Given the description of an element on the screen output the (x, y) to click on. 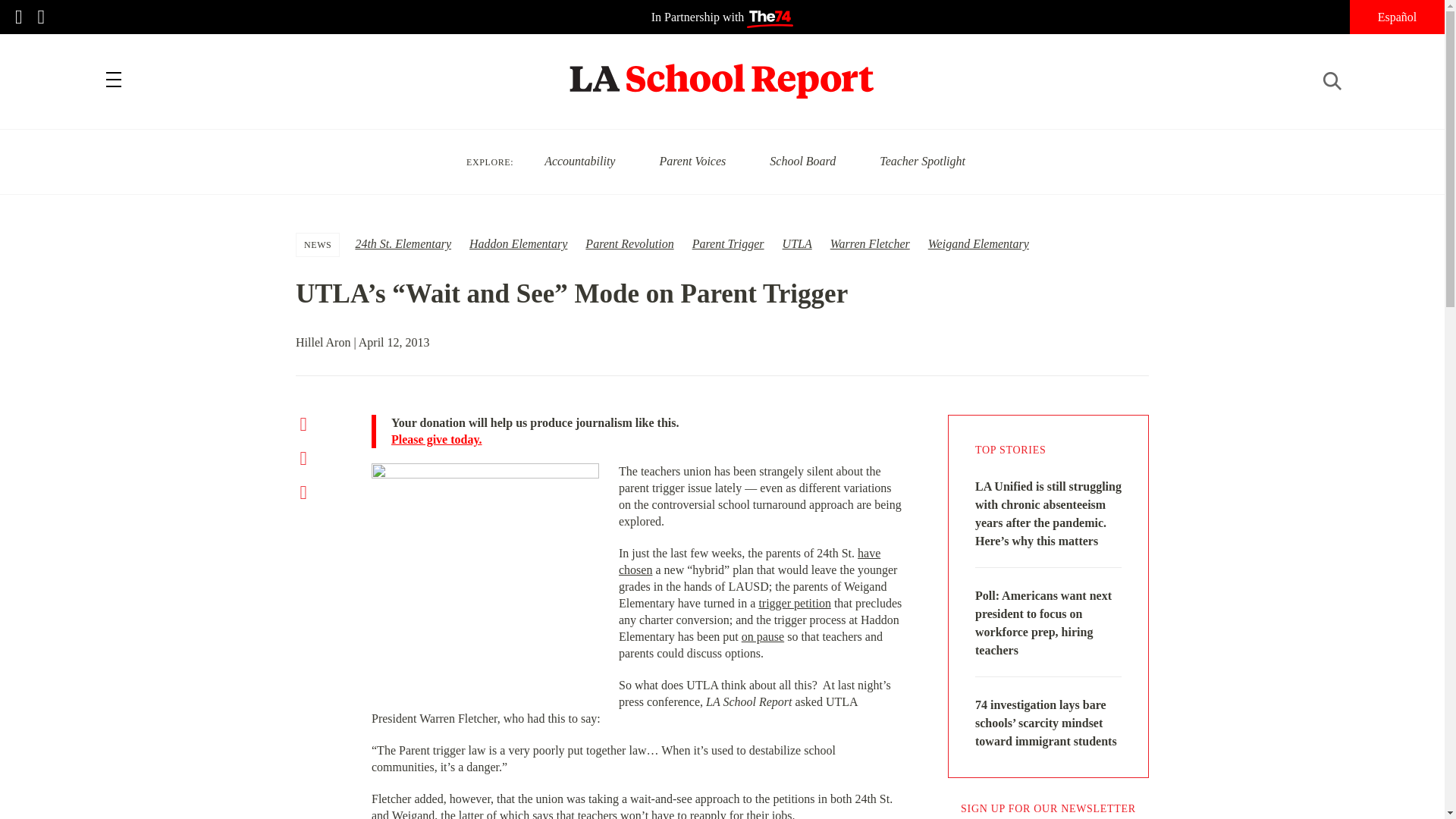
Teacher Spotlight (922, 160)
School Board (802, 160)
In Partnership with 74 (721, 16)
Parent Trigger (728, 243)
Parent Revolution (628, 243)
Haddon Elementary (517, 243)
Weigand Elementary (978, 243)
NEWS (317, 244)
